Given the description of an element on the screen output the (x, y) to click on. 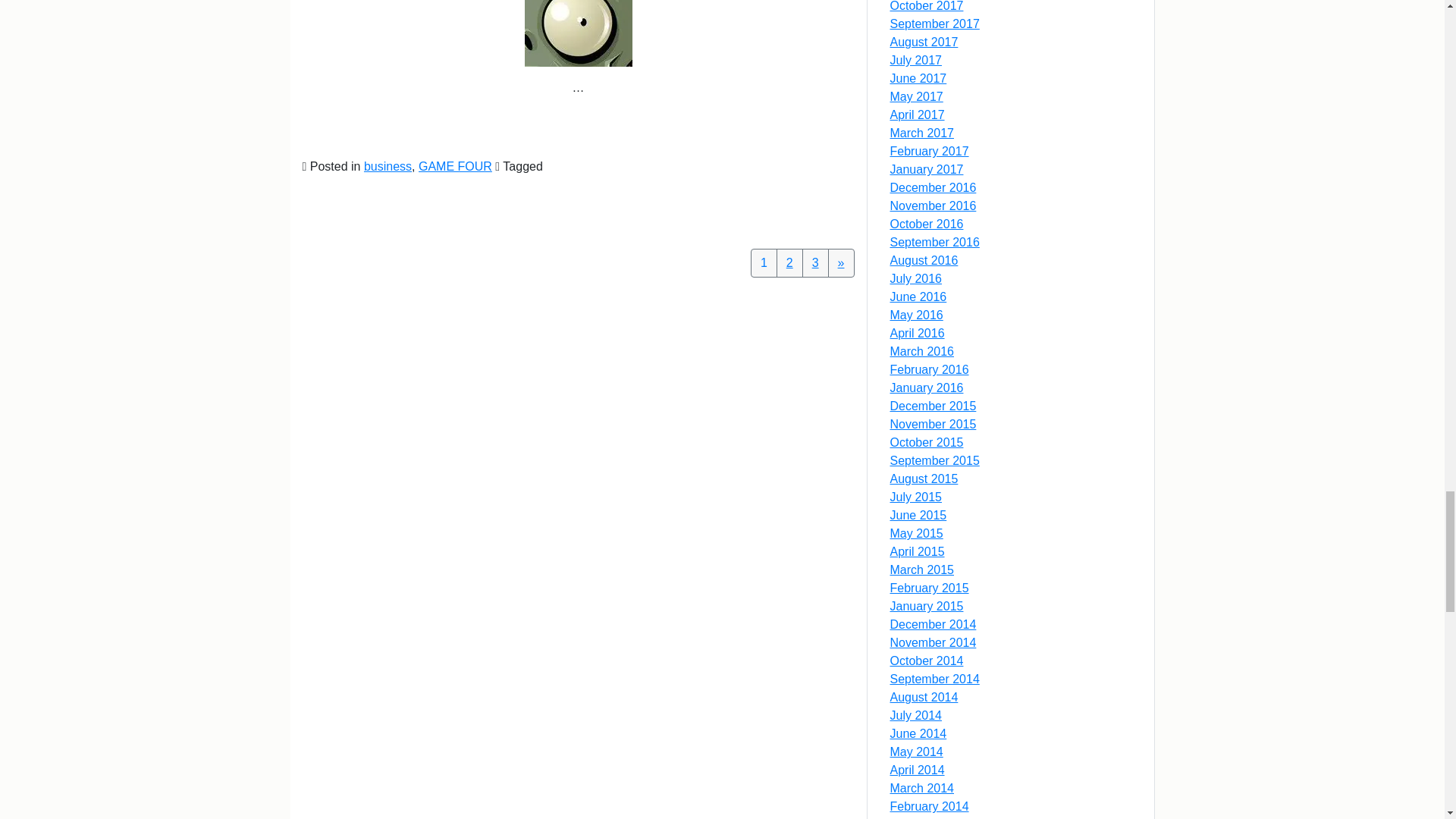
GAME FOUR (455, 165)
3 (815, 262)
2 (789, 262)
business (388, 165)
